Given the description of an element on the screen output the (x, y) to click on. 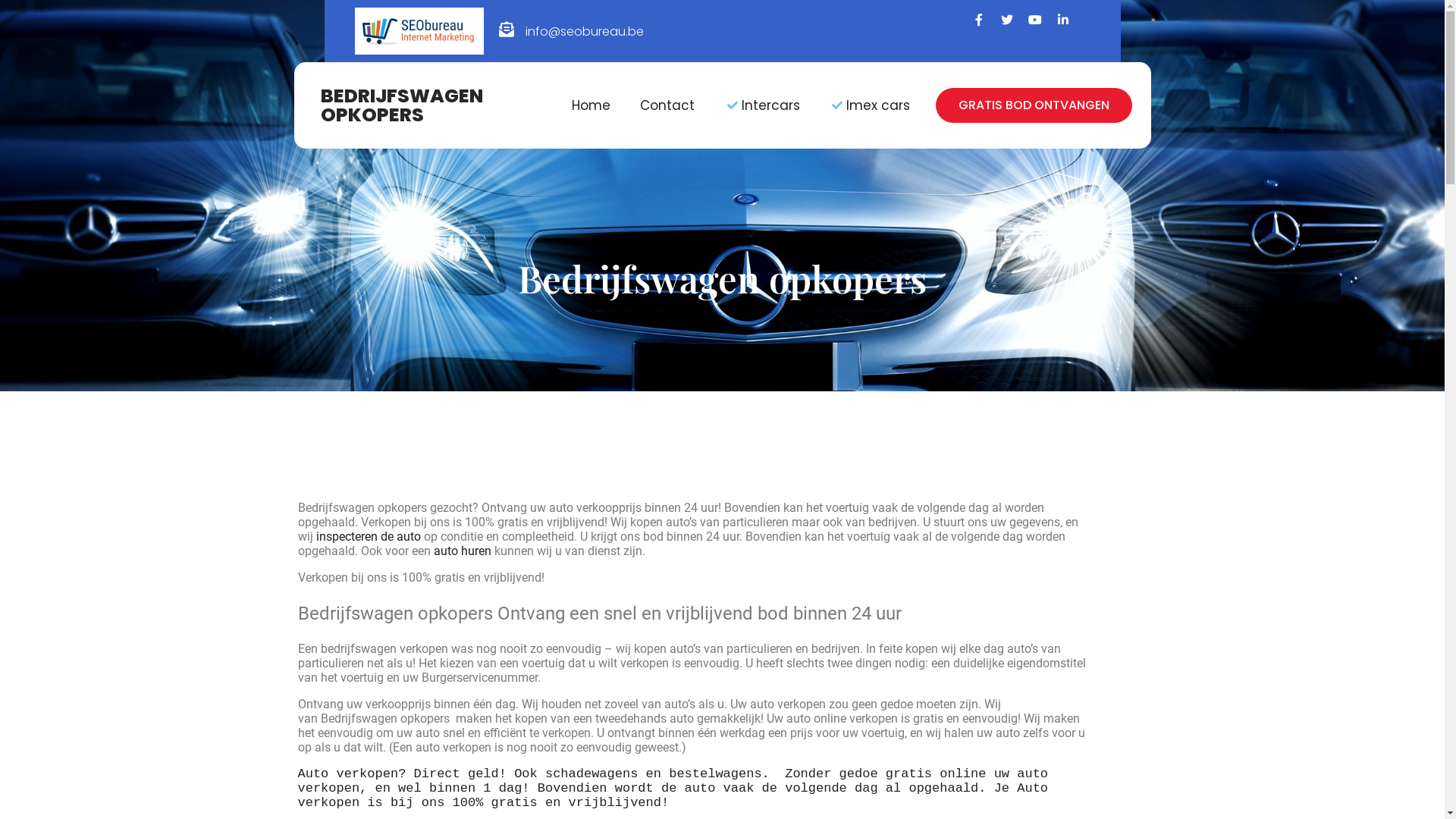
inspecteren de auto Element type: text (367, 536)
Contact Element type: text (667, 105)
auto huren Element type: text (462, 550)
Home Element type: text (590, 105)
Auto verkopen Element type: text (347, 773)
Intercars Element type: text (762, 105)
Imex cars Element type: text (869, 105)
GRATIS BOD ONTVANGEN Element type: text (1033, 104)
